Given the description of an element on the screen output the (x, y) to click on. 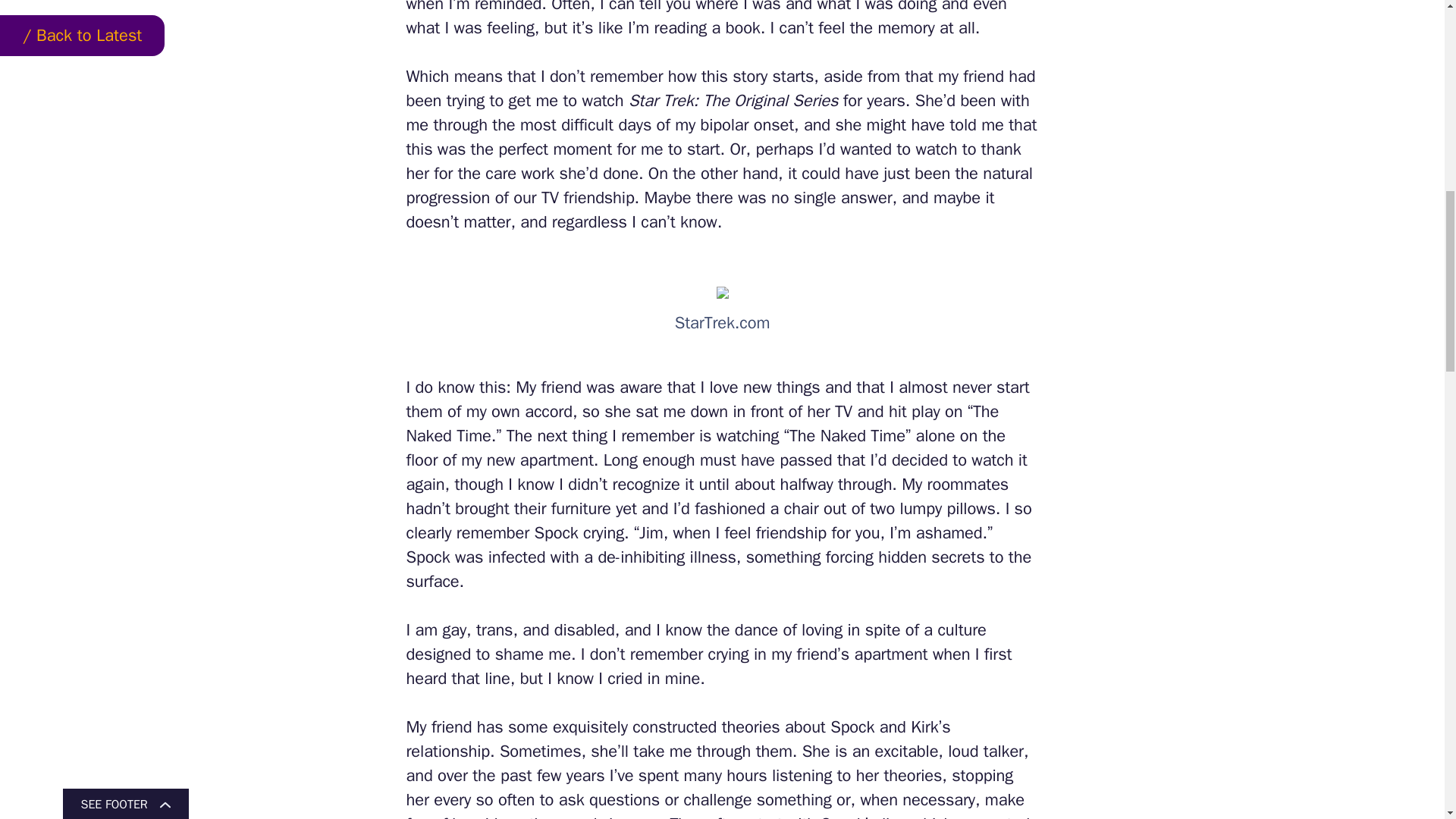
TERMS OF USE (697, 213)
BACK TO TOP (1345, 222)
CALIFORNIA NOTICE (596, 213)
YOUR PRIVACY CHOICES (473, 213)
FAN FILMS (1030, 213)
SEE FOOTER (124, 0)
WHERE TO WATCH (498, 118)
REGISTRATION (786, 213)
CLOSED CAPTIONING (936, 213)
HELP (854, 213)
